Given the description of an element on the screen output the (x, y) to click on. 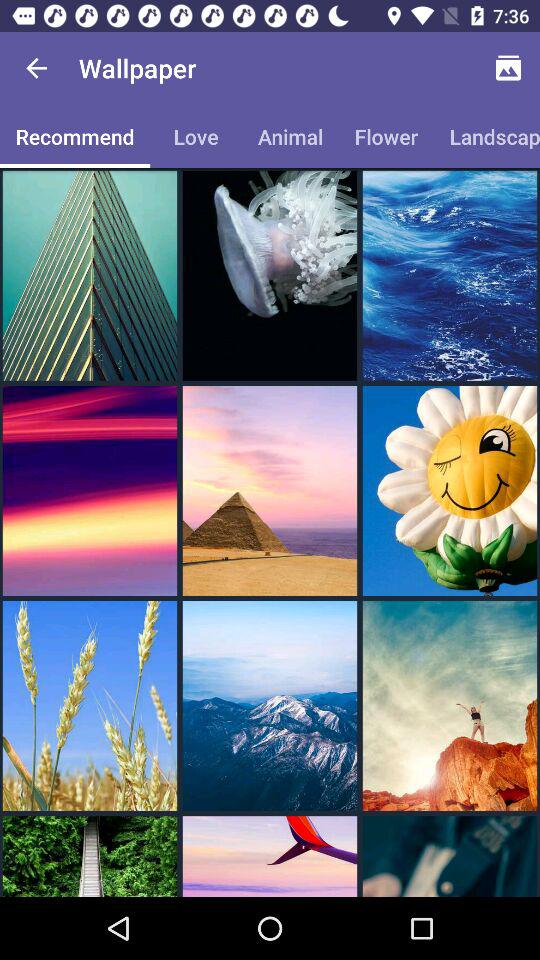
open the app to the left of the wallpaper icon (36, 68)
